Given the description of an element on the screen output the (x, y) to click on. 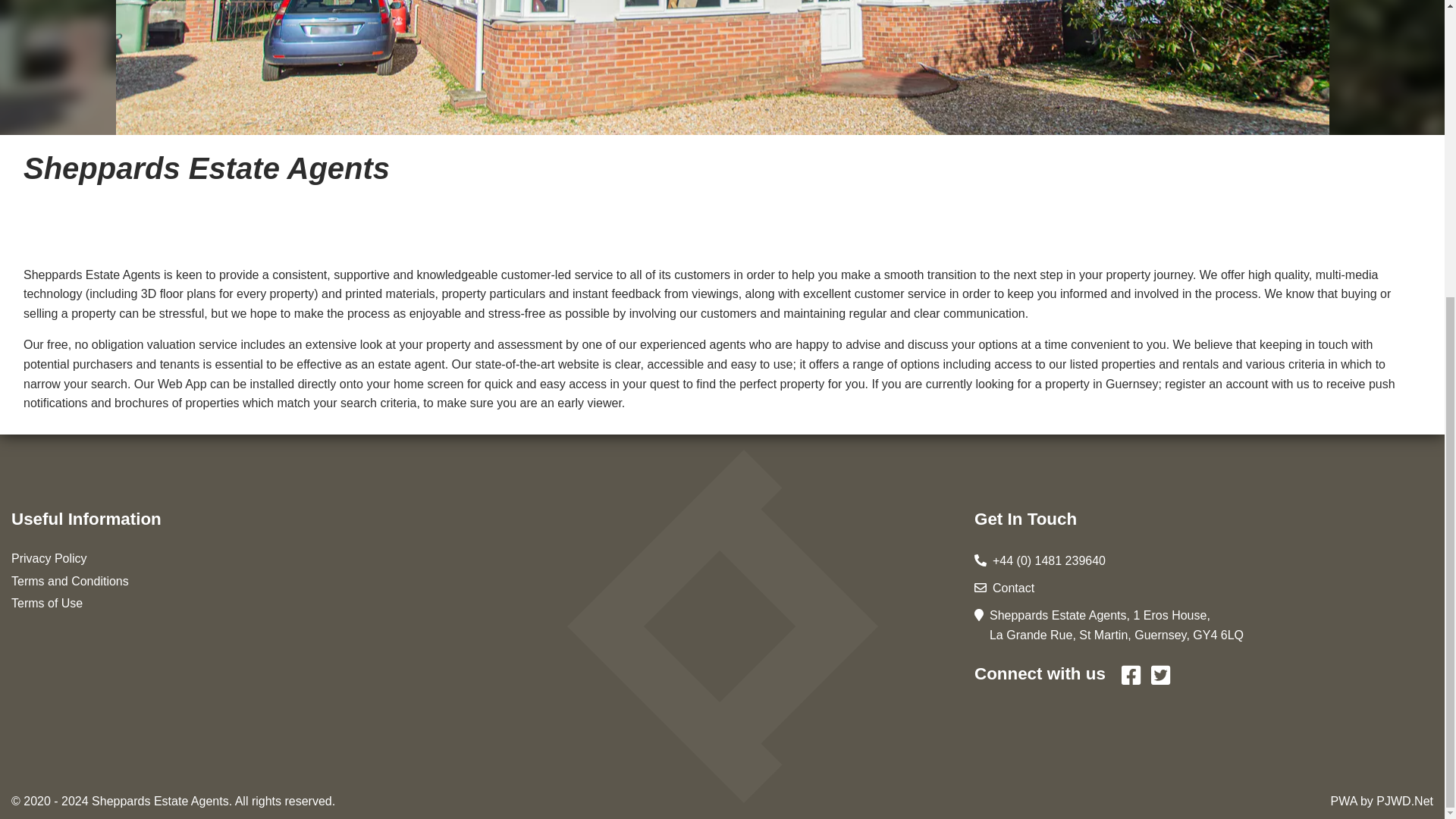
Contact (1012, 129)
Progressive Web App by PJWD.Net (1403, 342)
Terms of Use (46, 144)
Sheppards Estate Agents (159, 342)
PJWD.Net (1403, 342)
Terms and Conditions (70, 123)
Contact (1012, 129)
Privacy Policy (49, 100)
